Given the description of an element on the screen output the (x, y) to click on. 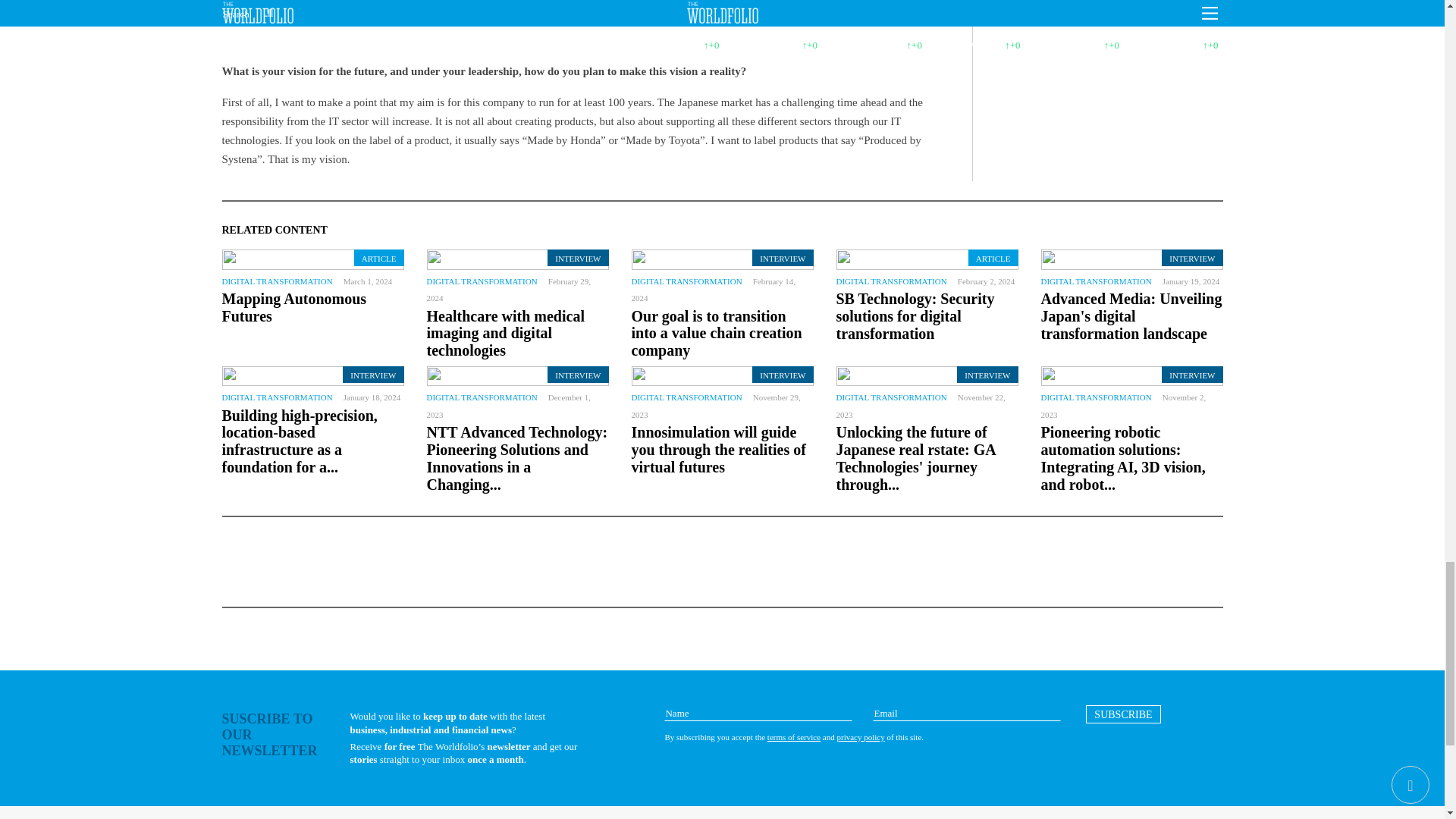
SUBSCRIBE (1123, 714)
